Given the description of an element on the screen output the (x, y) to click on. 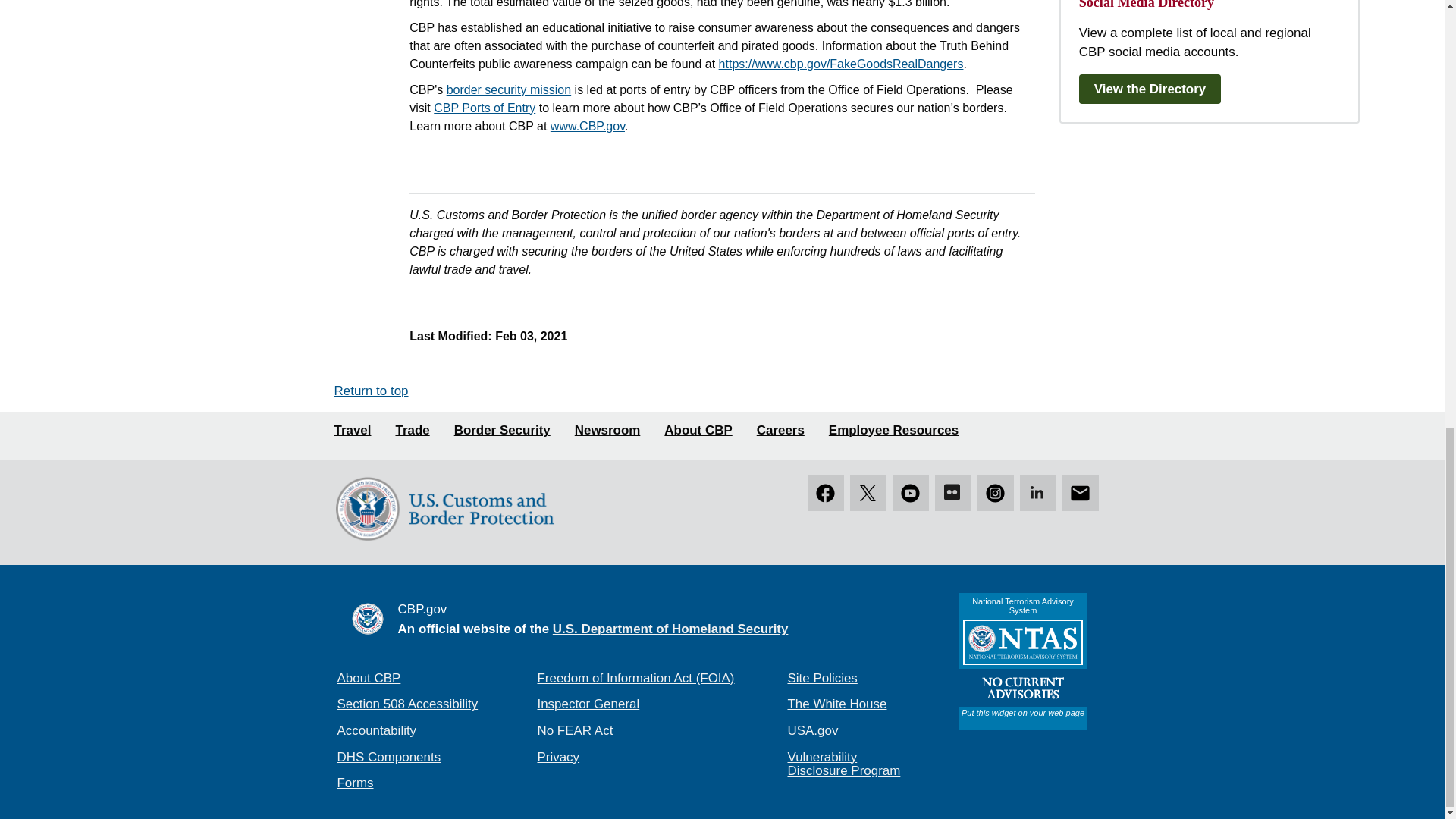
Newsroom (607, 430)
About (697, 430)
National Terrorism Advisory System (1022, 660)
Trade (411, 430)
Border Security (502, 430)
Careers (781, 430)
Travel (352, 430)
